Given the description of an element on the screen output the (x, y) to click on. 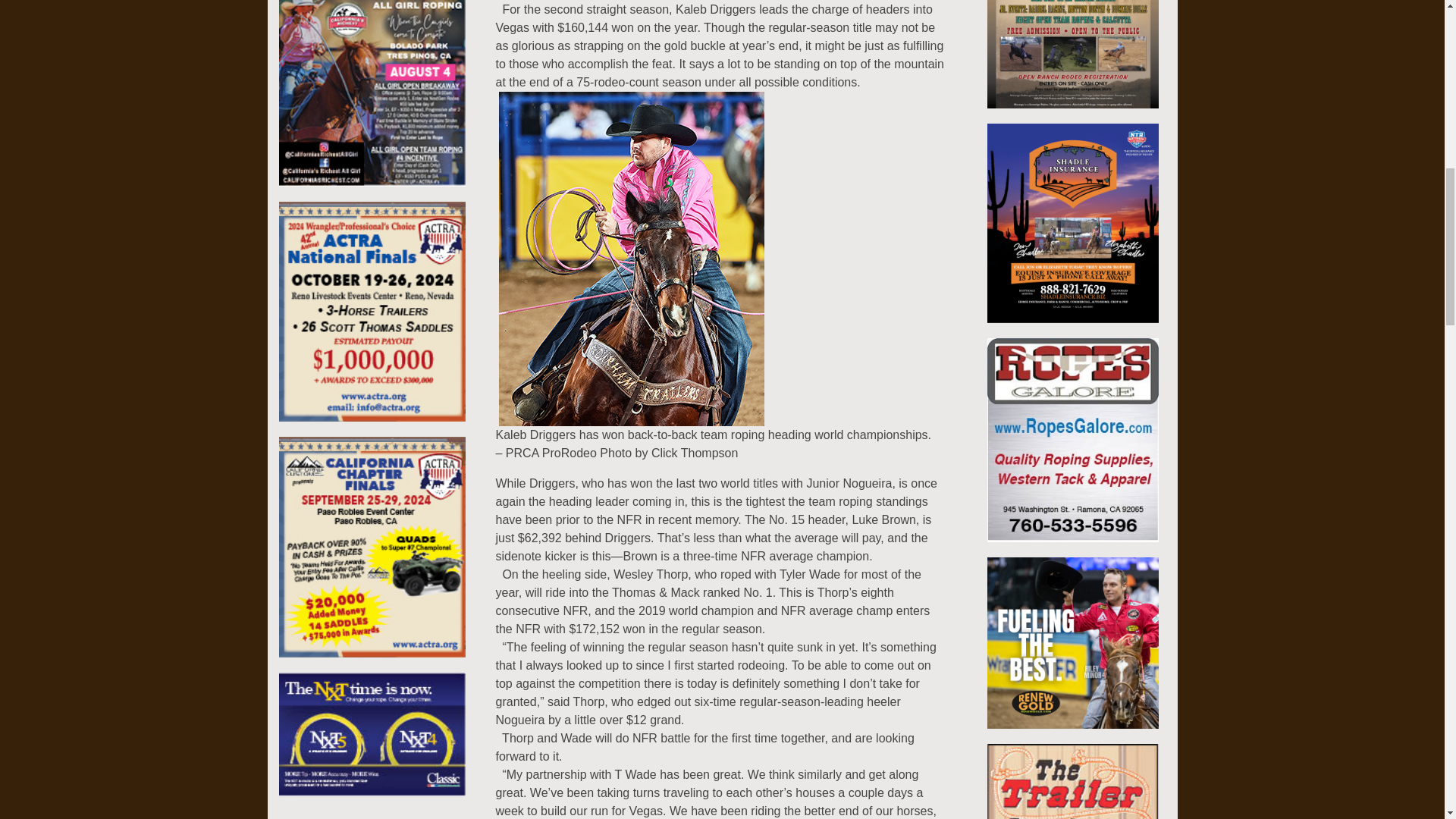
Ropes Galore (1072, 446)
Equibrand Spyder (372, 740)
Californias Richest All Girl (372, 78)
